Given the description of an element on the screen output the (x, y) to click on. 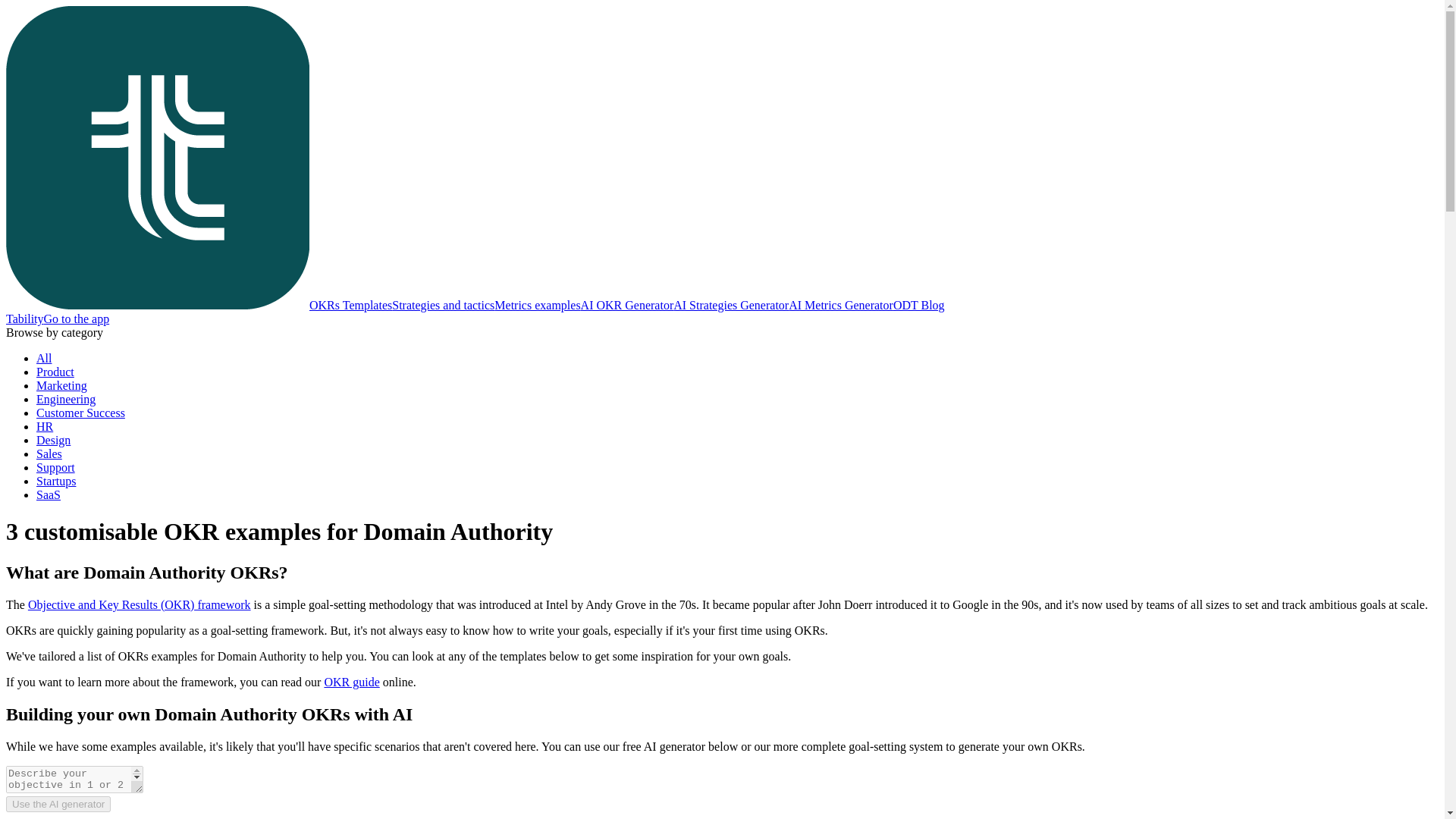
OKR guide (350, 681)
Strategies and tactics (443, 305)
AI OKR Generator (627, 305)
SaaS (48, 494)
Metrics examples (537, 305)
Tability (24, 318)
Sales (49, 453)
Marketing (61, 385)
AI Metrics Generator (841, 305)
Go to the app (76, 318)
